Given the description of an element on the screen output the (x, y) to click on. 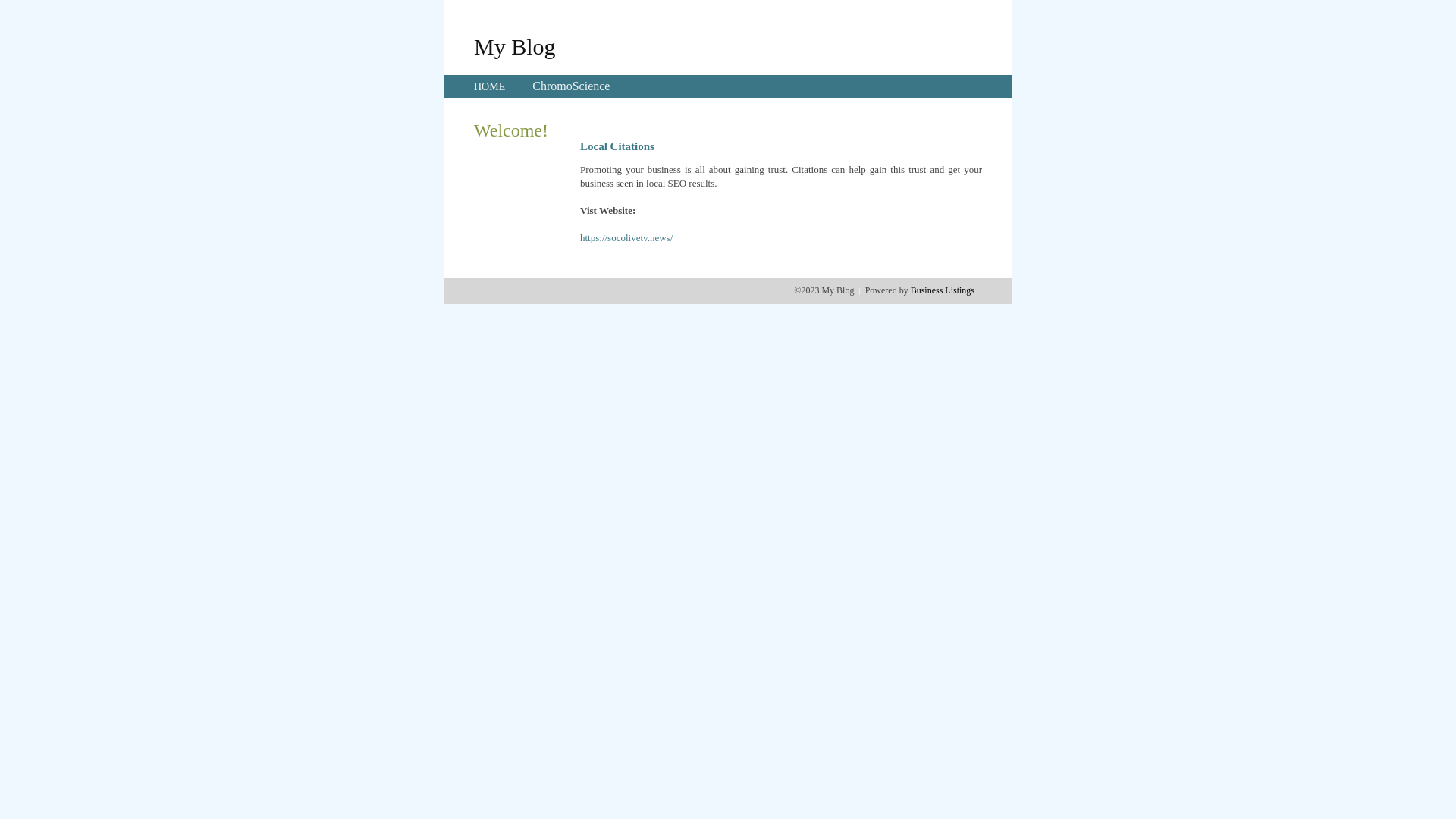
HOME Element type: text (489, 86)
Business Listings Element type: text (942, 290)
https://socolivetv.news/ Element type: text (626, 237)
ChromoScience Element type: text (570, 85)
My Blog Element type: text (514, 46)
